Given the description of an element on the screen output the (x, y) to click on. 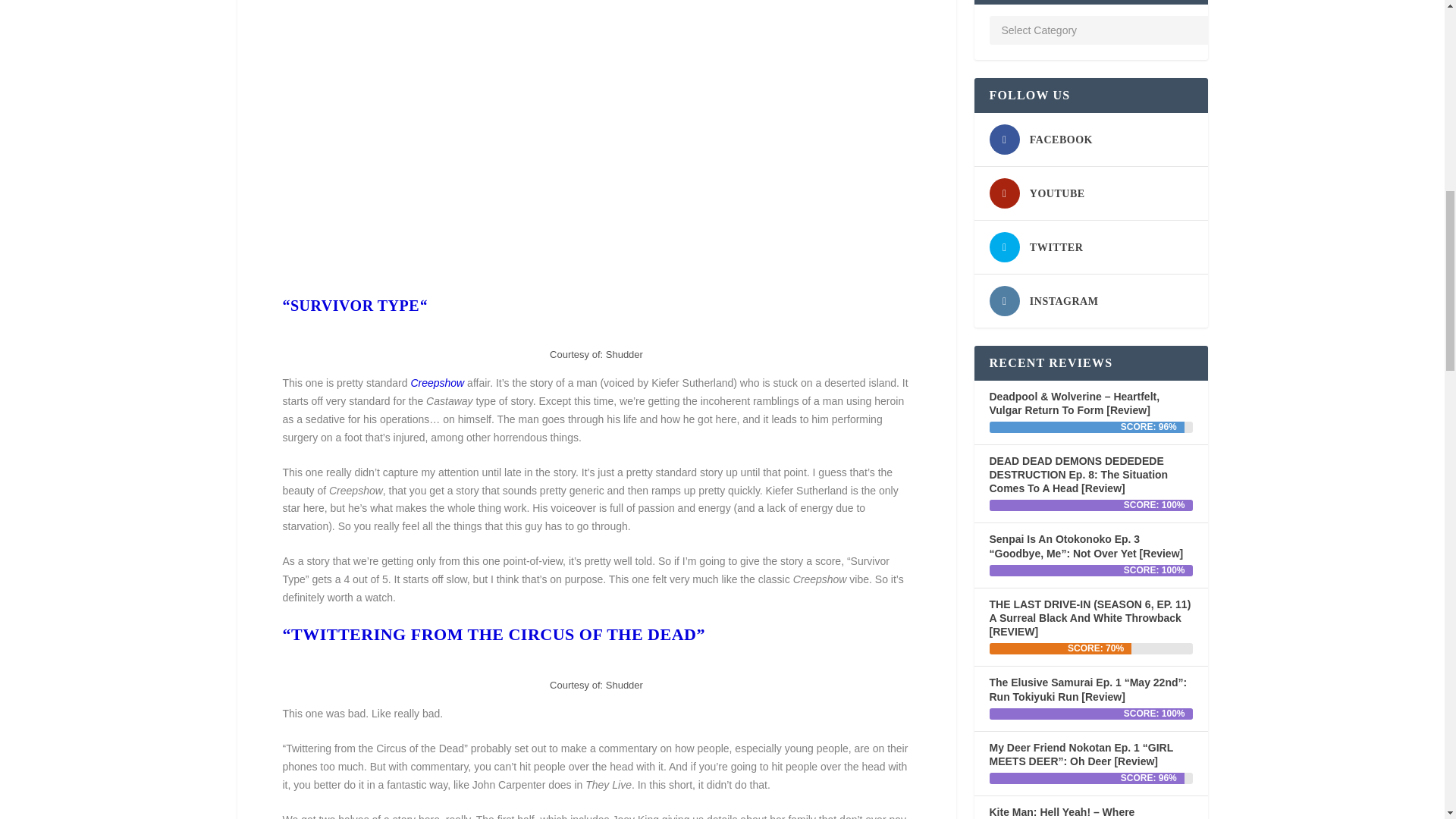
Creepshow (437, 382)
